Given the description of an element on the screen output the (x, y) to click on. 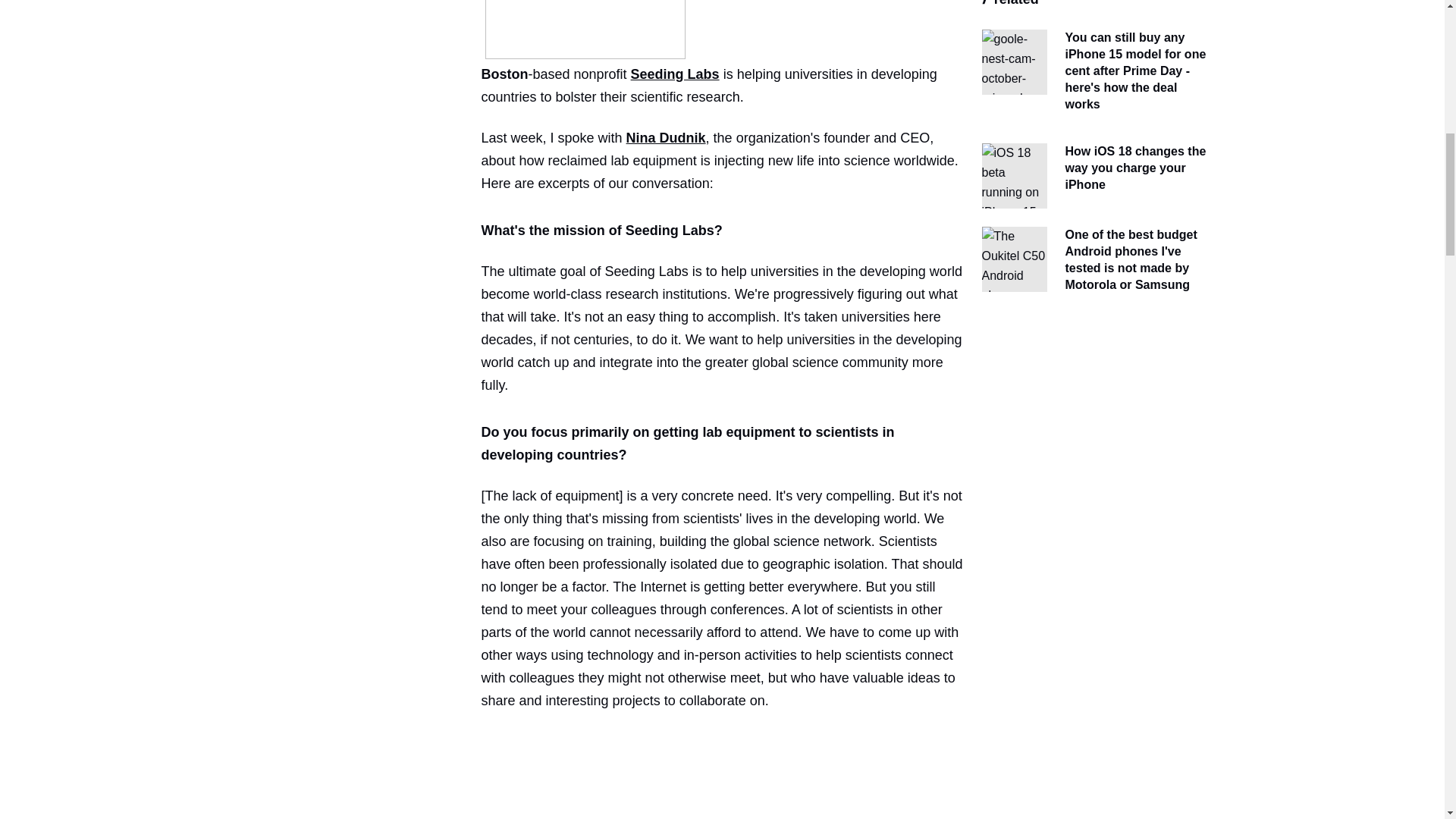
ninadudnik (584, 29)
